Given the description of an element on the screen output the (x, y) to click on. 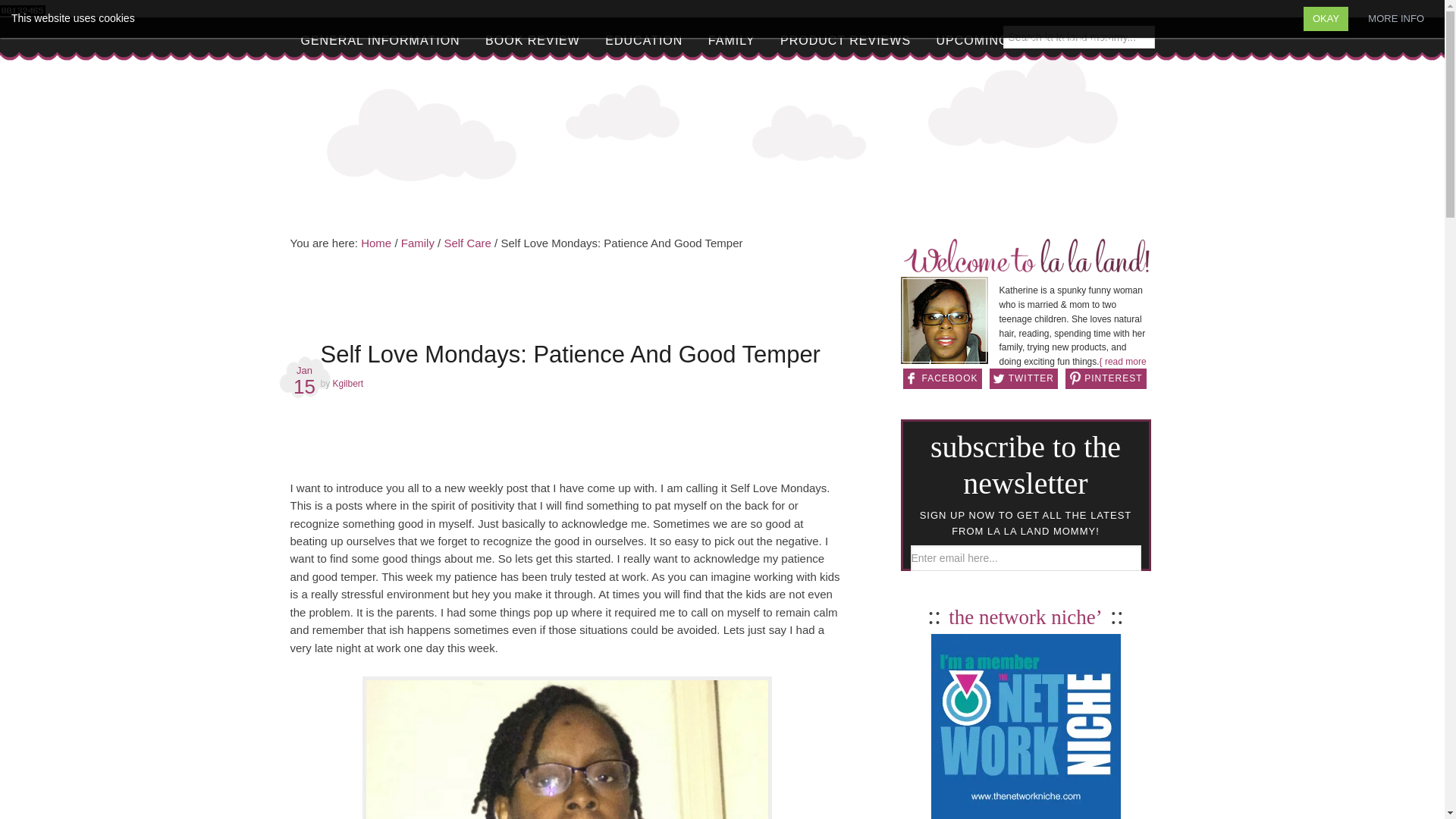
PRODUCT REVIEWS (845, 40)
Home (376, 242)
Advertisement (567, 301)
UPCOMING LOCAL EVENTS (1025, 40)
Search (1165, 30)
EDUCATION (643, 40)
Family (417, 242)
FAMILY (731, 40)
BOOK REVIEW (532, 40)
GENERAL INFORMATION (379, 40)
Kgilbert (348, 382)
Self Care (468, 242)
Search (1165, 30)
Search (1165, 30)
LA LA LAND MOMMY (721, 134)
